Given the description of an element on the screen output the (x, y) to click on. 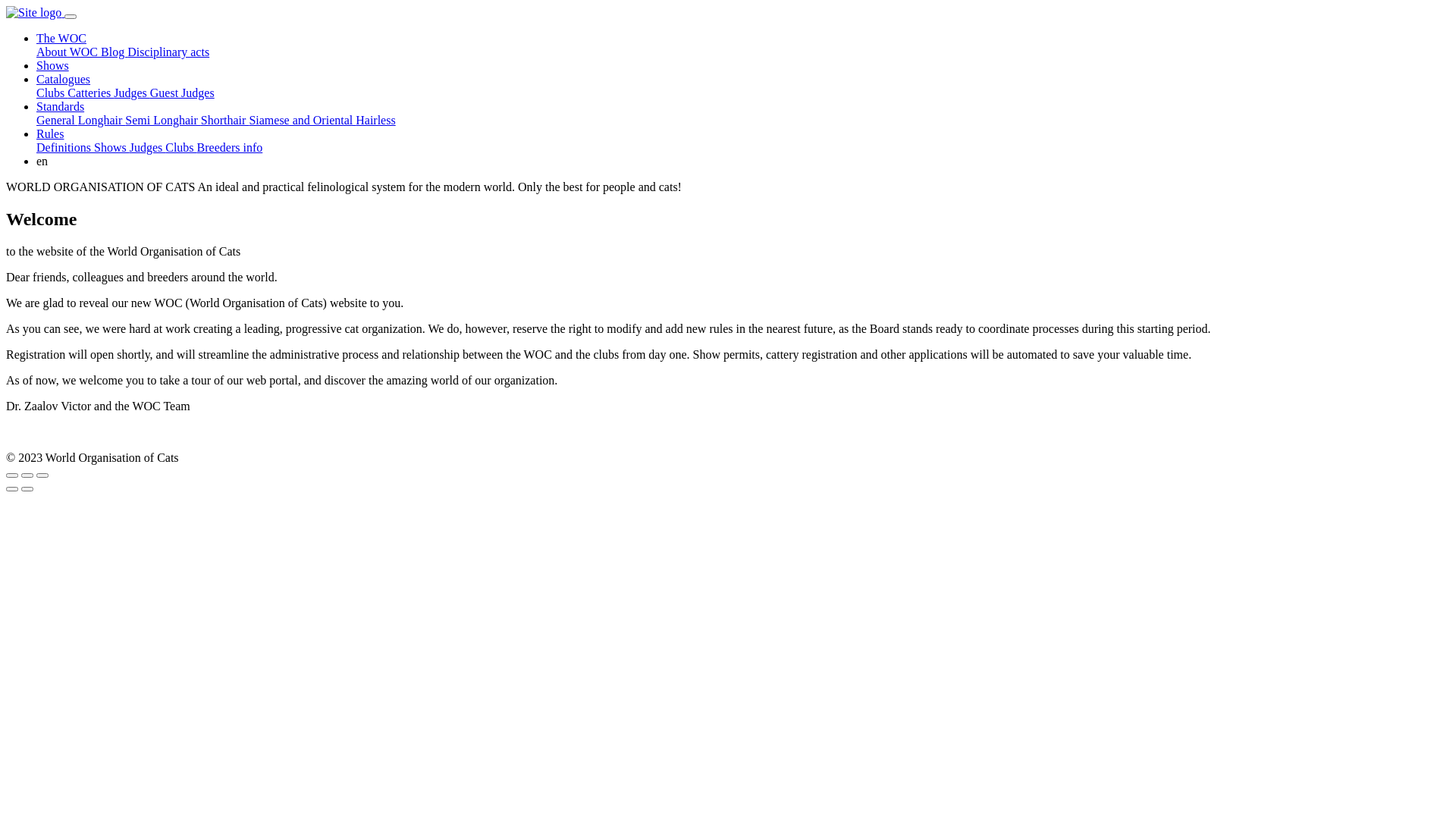
Guest Judges Element type: text (182, 92)
Zoom in/out Element type: hover (42, 475)
Clubs Element type: text (180, 147)
Close (Esc) Element type: hover (12, 475)
Definitions Element type: text (65, 147)
Toggle fullscreen Element type: hover (27, 475)
Previous (arrow left) Element type: hover (12, 488)
Catalogues Element type: text (63, 78)
Clubs Element type: text (51, 92)
Judges Element type: text (131, 92)
General Element type: text (57, 119)
Judges Element type: text (147, 147)
Next (arrow right) Element type: hover (27, 488)
Blog Element type: text (113, 51)
About WOC Element type: text (68, 51)
Catteries Element type: text (90, 92)
The WOC Element type: text (61, 37)
Disciplinary acts Element type: text (168, 51)
Breeders info Element type: text (230, 147)
Shows Element type: text (52, 65)
Siamese and Oriental Element type: text (301, 119)
Standards Element type: text (60, 106)
en Element type: text (742, 161)
Hairless Element type: text (375, 119)
Shows Element type: text (111, 147)
Rules Element type: text (49, 133)
Semi Longhair Element type: text (162, 119)
Shorthair Element type: text (224, 119)
Longhair Element type: text (101, 119)
